Given the description of an element on the screen output the (x, y) to click on. 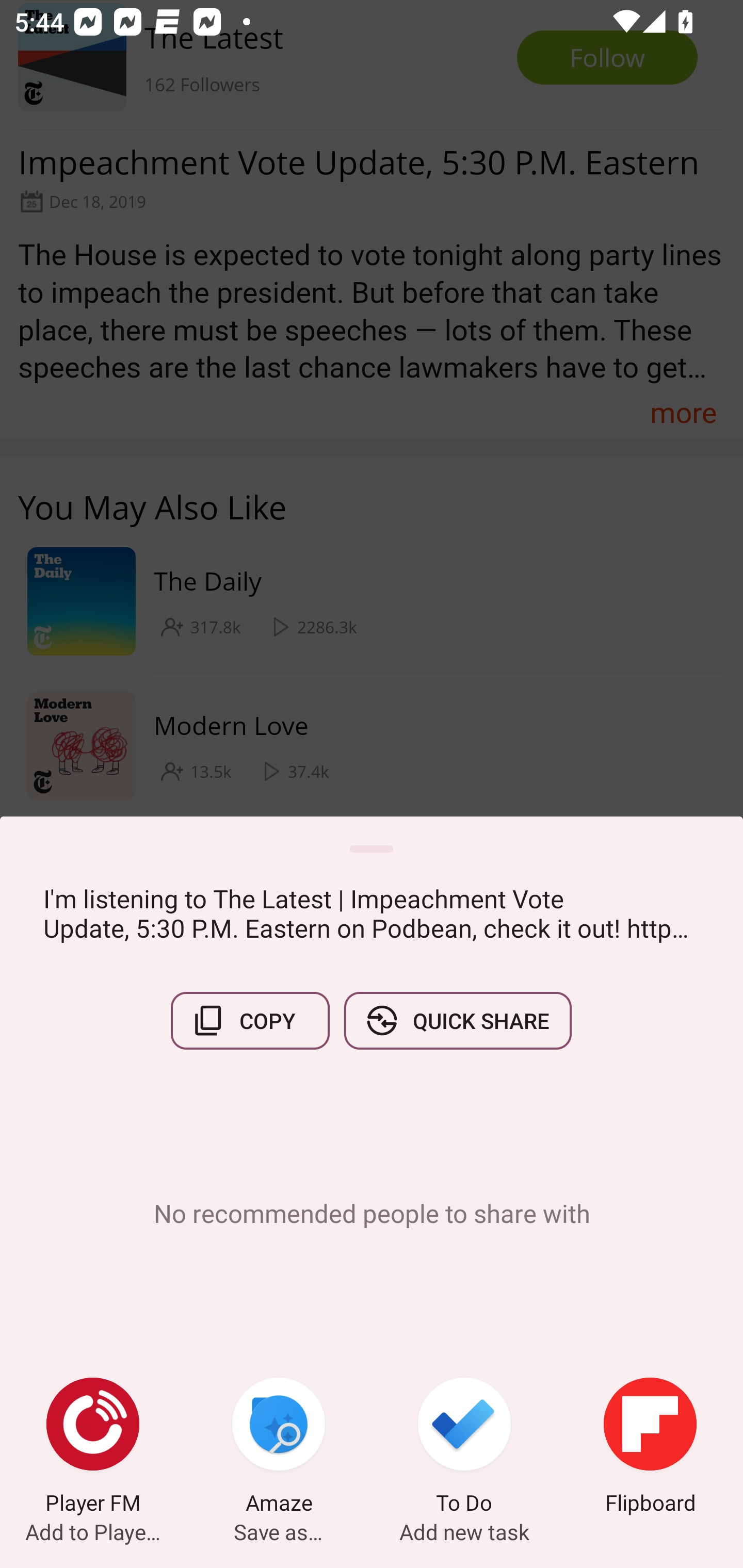
COPY (249, 1020)
QUICK SHARE (457, 1020)
Player FM Add to Player FM (92, 1448)
Amaze Save as… (278, 1448)
To Do Add new task (464, 1448)
Flipboard (650, 1448)
